Given the description of an element on the screen output the (x, y) to click on. 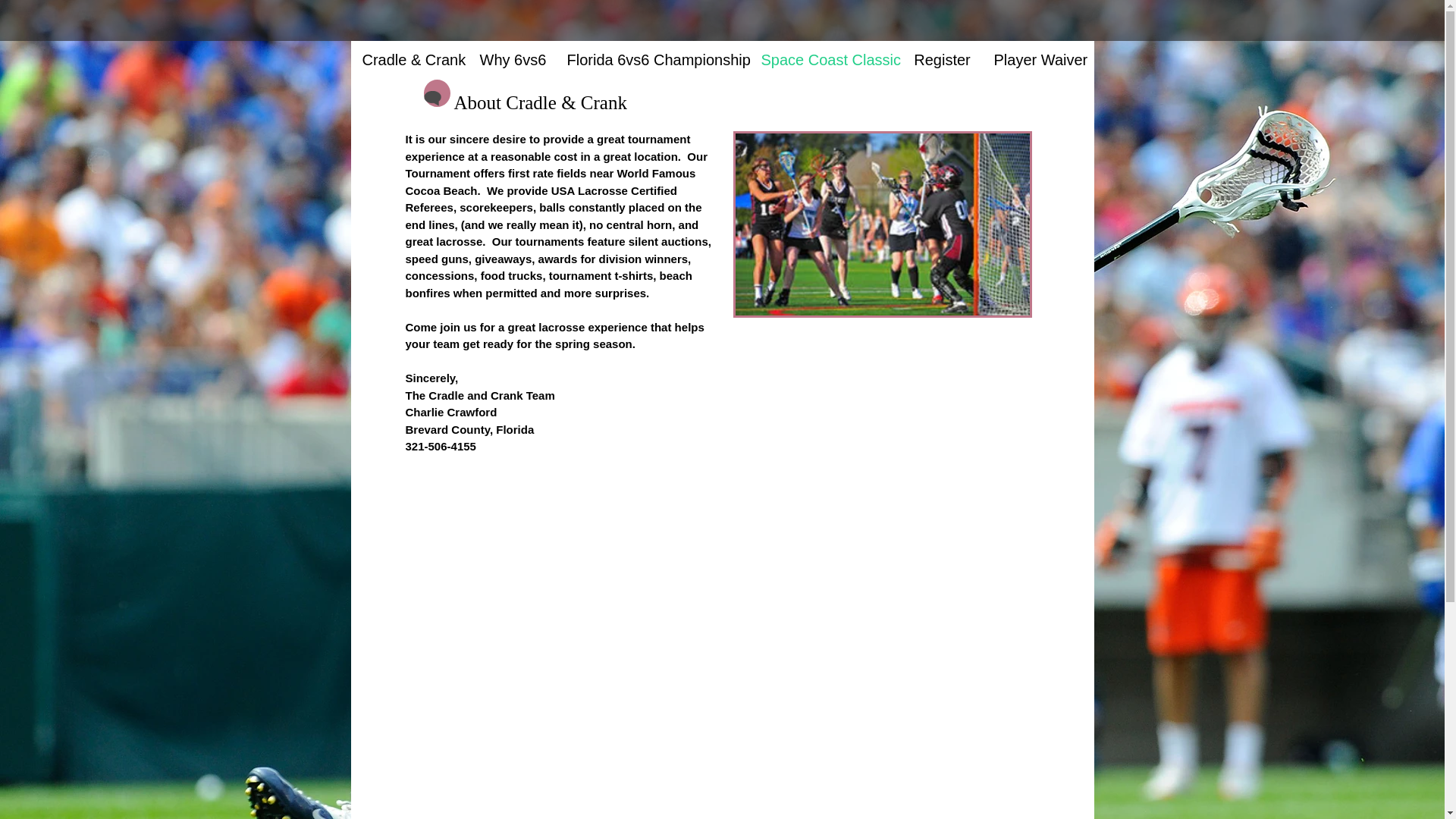
Register (942, 59)
Space Coast Classic (825, 59)
Player Waiver (1038, 59)
Florida 6vs6 Championship (651, 59)
Why 6vs6 (512, 59)
